Given the description of an element on the screen output the (x, y) to click on. 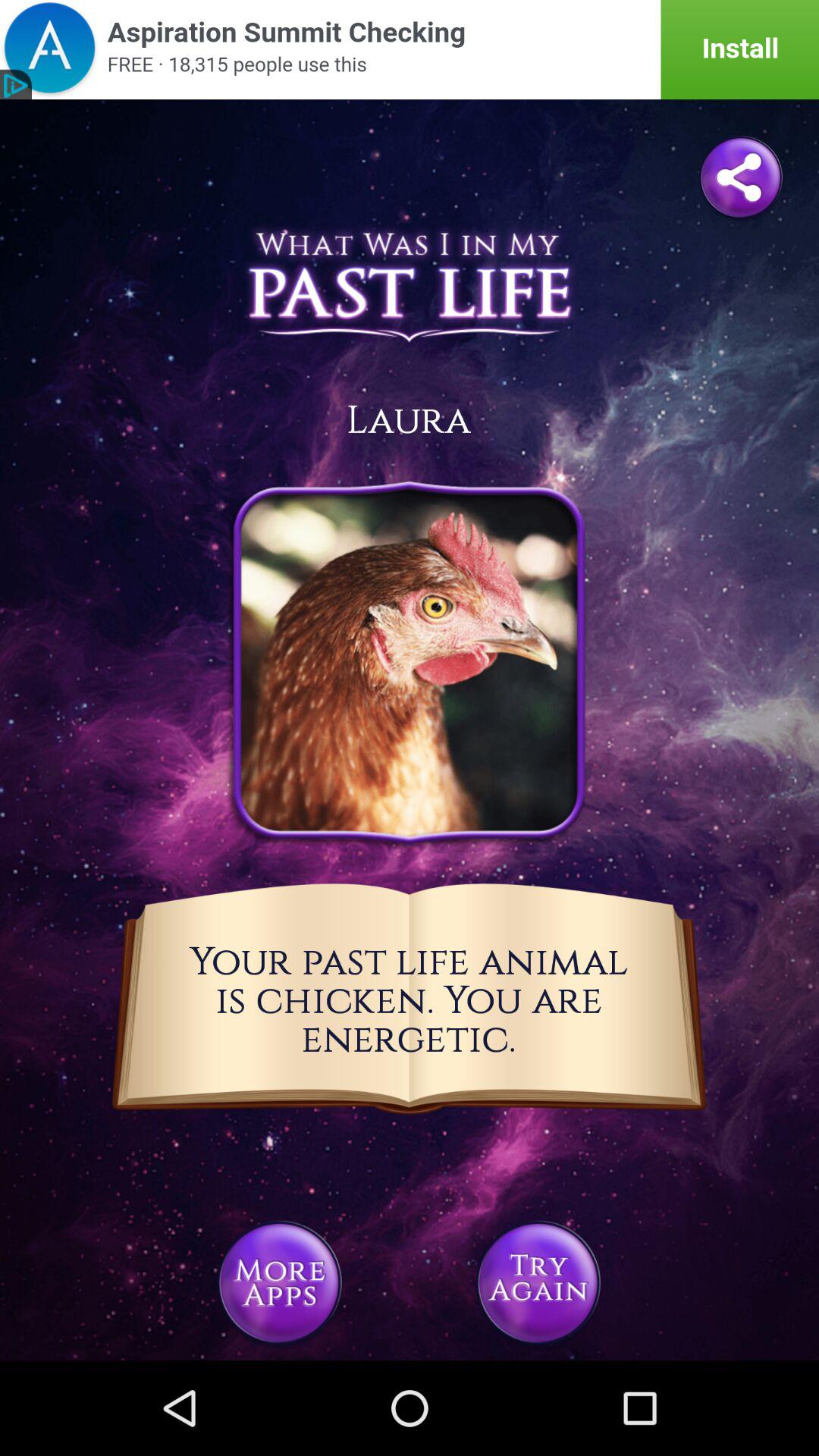
try again (537, 1282)
